Given the description of an element on the screen output the (x, y) to click on. 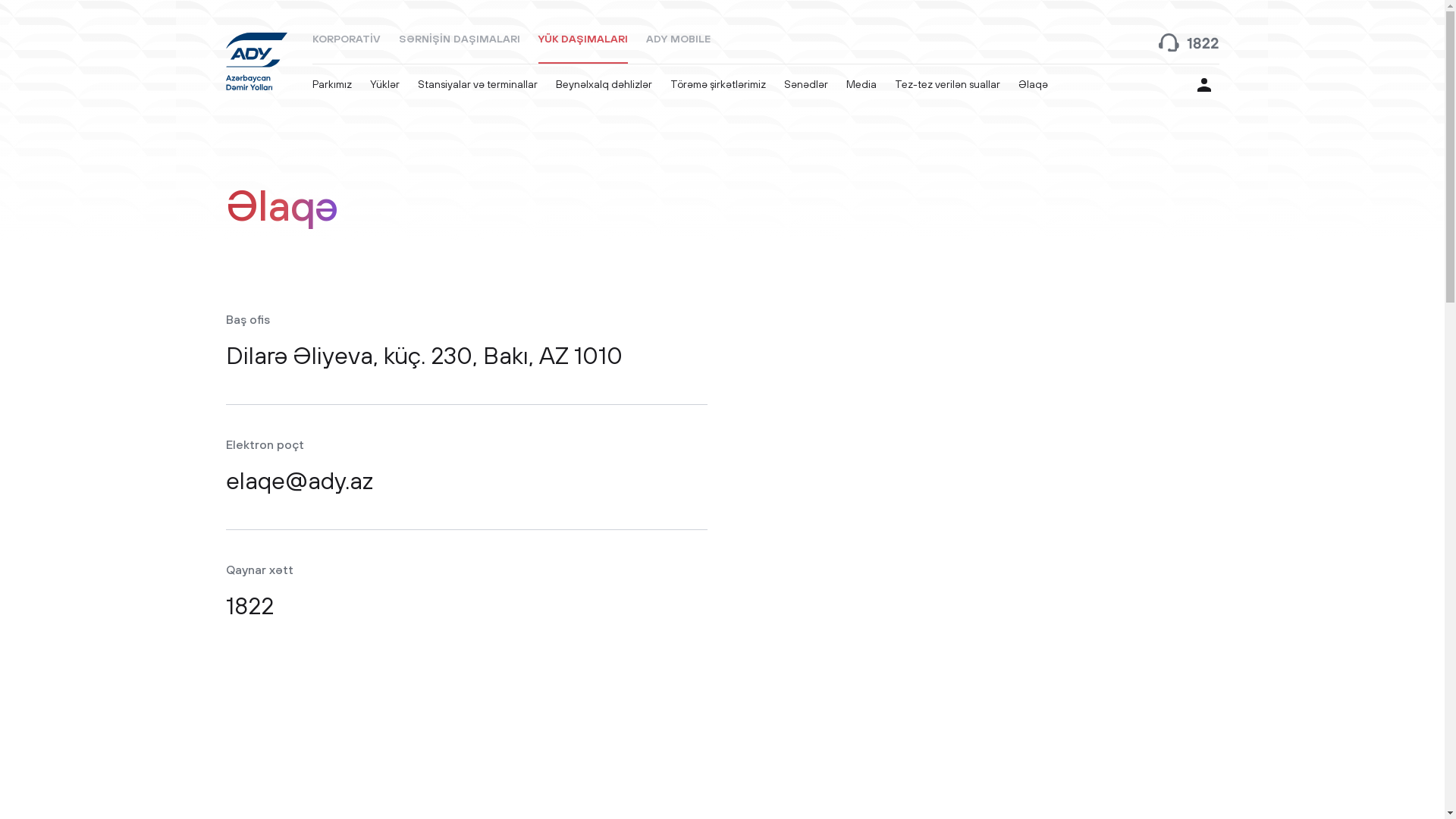
Media Element type: text (861, 84)
KORPORATIV Element type: text (346, 38)
ADY MOBILE Element type: text (678, 38)
